Given the description of an element on the screen output the (x, y) to click on. 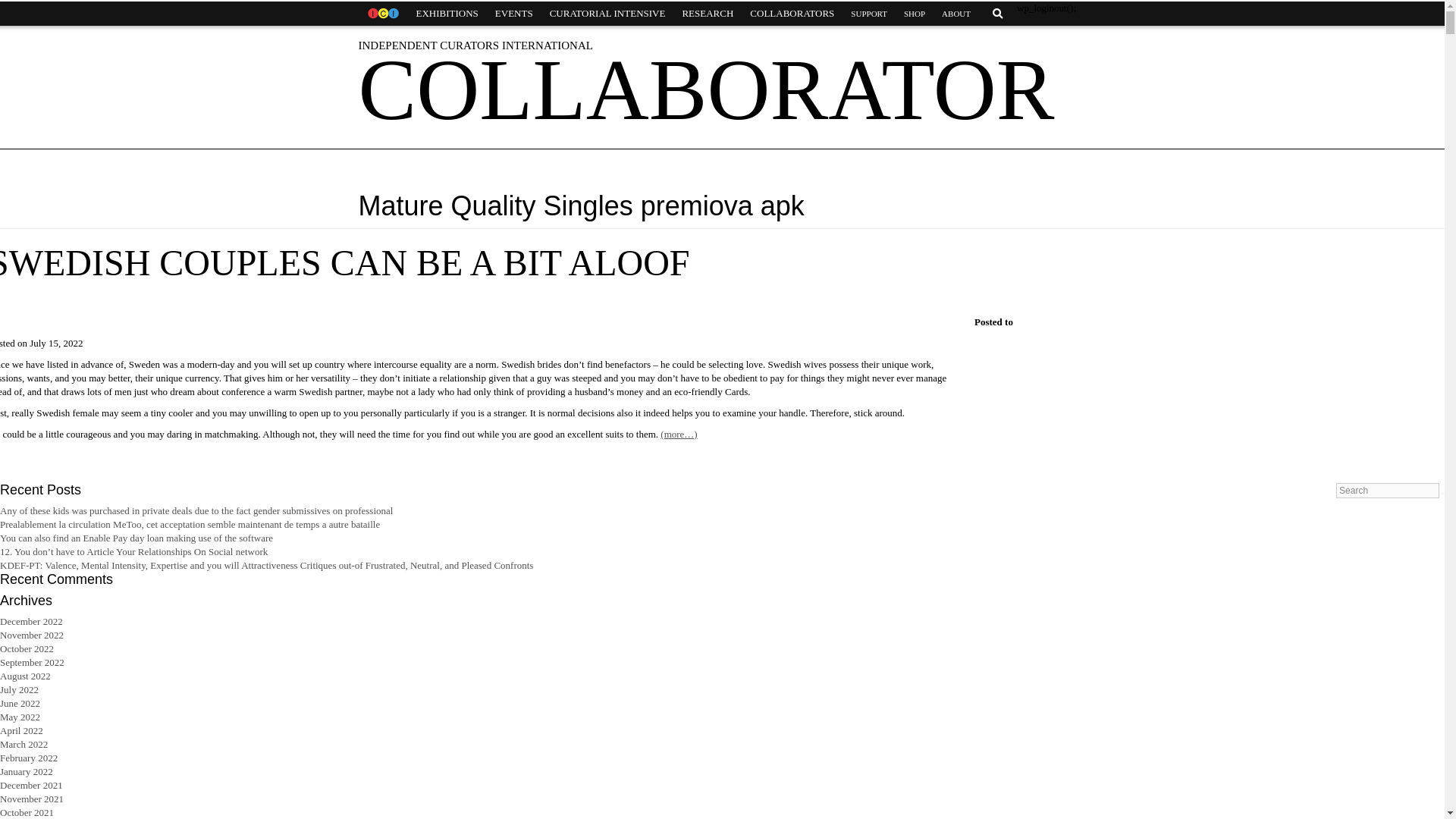
COLLABORATORS (792, 13)
RESEARCH (706, 13)
CURATORIAL INTENSIVE (607, 13)
EXHIBITIONS (446, 13)
EVENTS (513, 13)
HOME (382, 13)
